Given the description of an element on the screen output the (x, y) to click on. 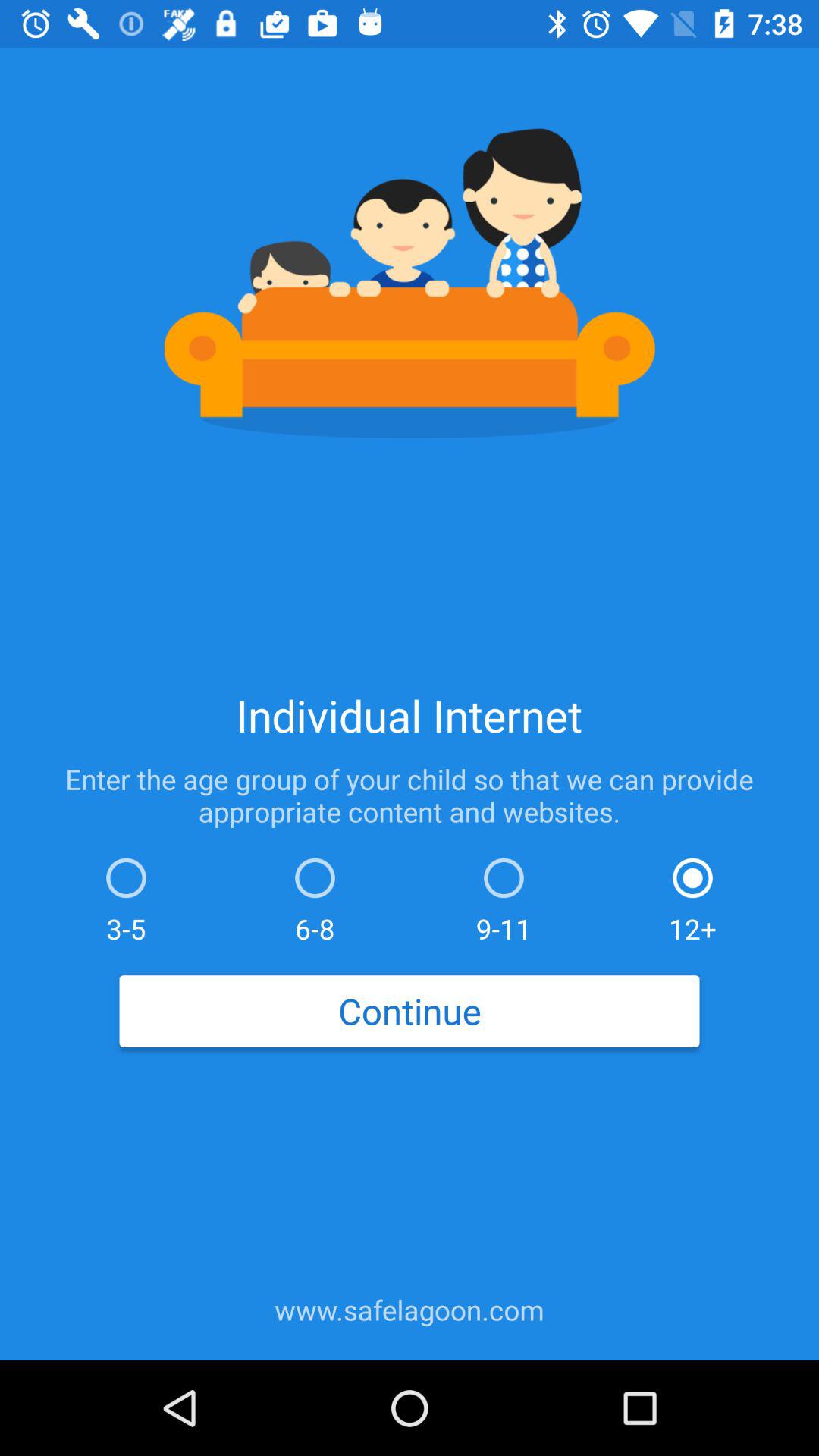
press 6-8 item (314, 896)
